Given the description of an element on the screen output the (x, y) to click on. 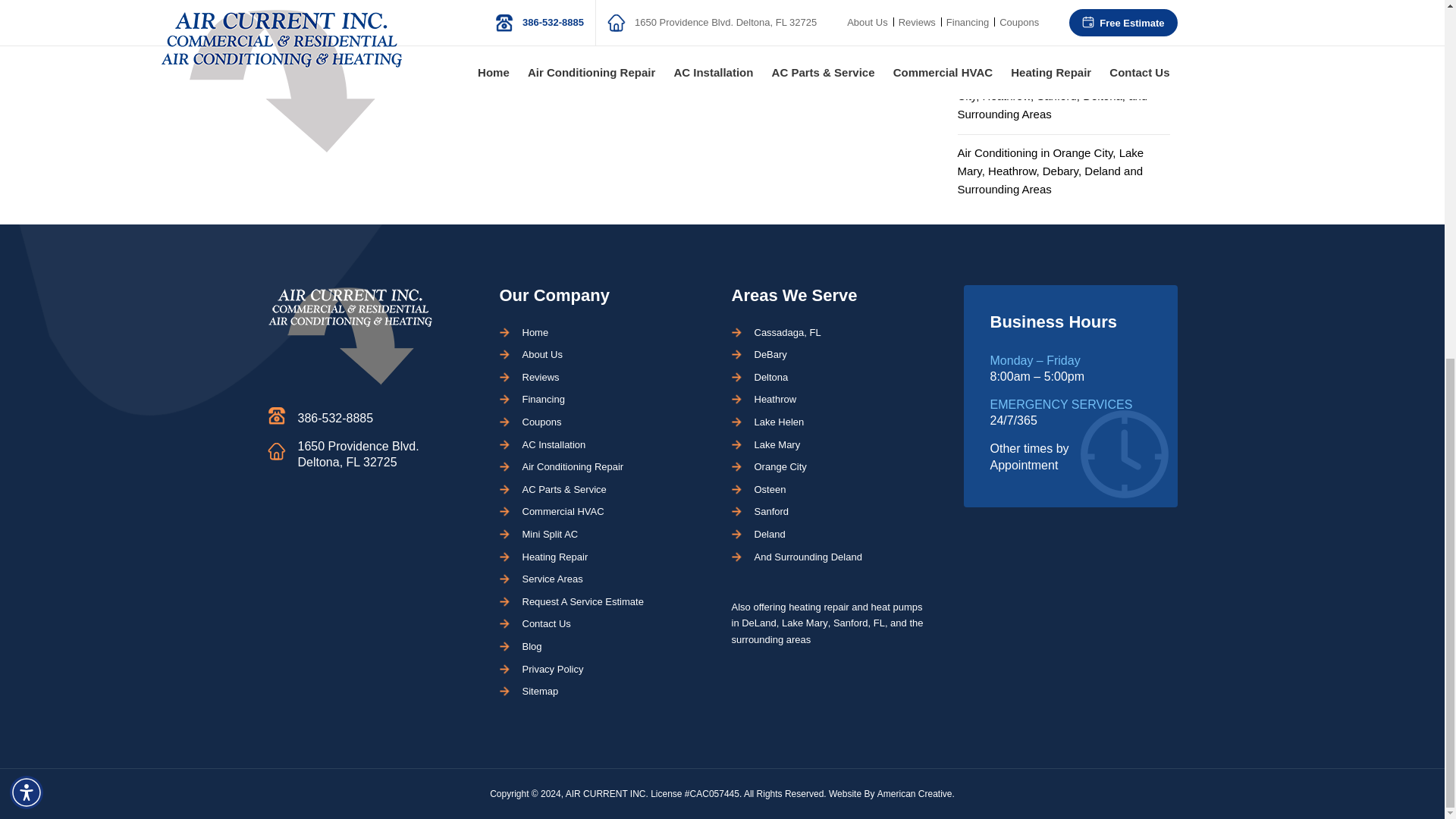
Heating Repair (554, 556)
Air Conditioning Repair (572, 466)
Coupons (540, 421)
About Us (541, 354)
Cassadaga, FL (787, 332)
Contact Us (545, 623)
Blog (531, 645)
AC Installation (553, 444)
Reviews (540, 377)
Accessibility Menu (26, 159)
Mini Split AC (549, 533)
Financing (542, 398)
DeBary (770, 354)
